Given the description of an element on the screen output the (x, y) to click on. 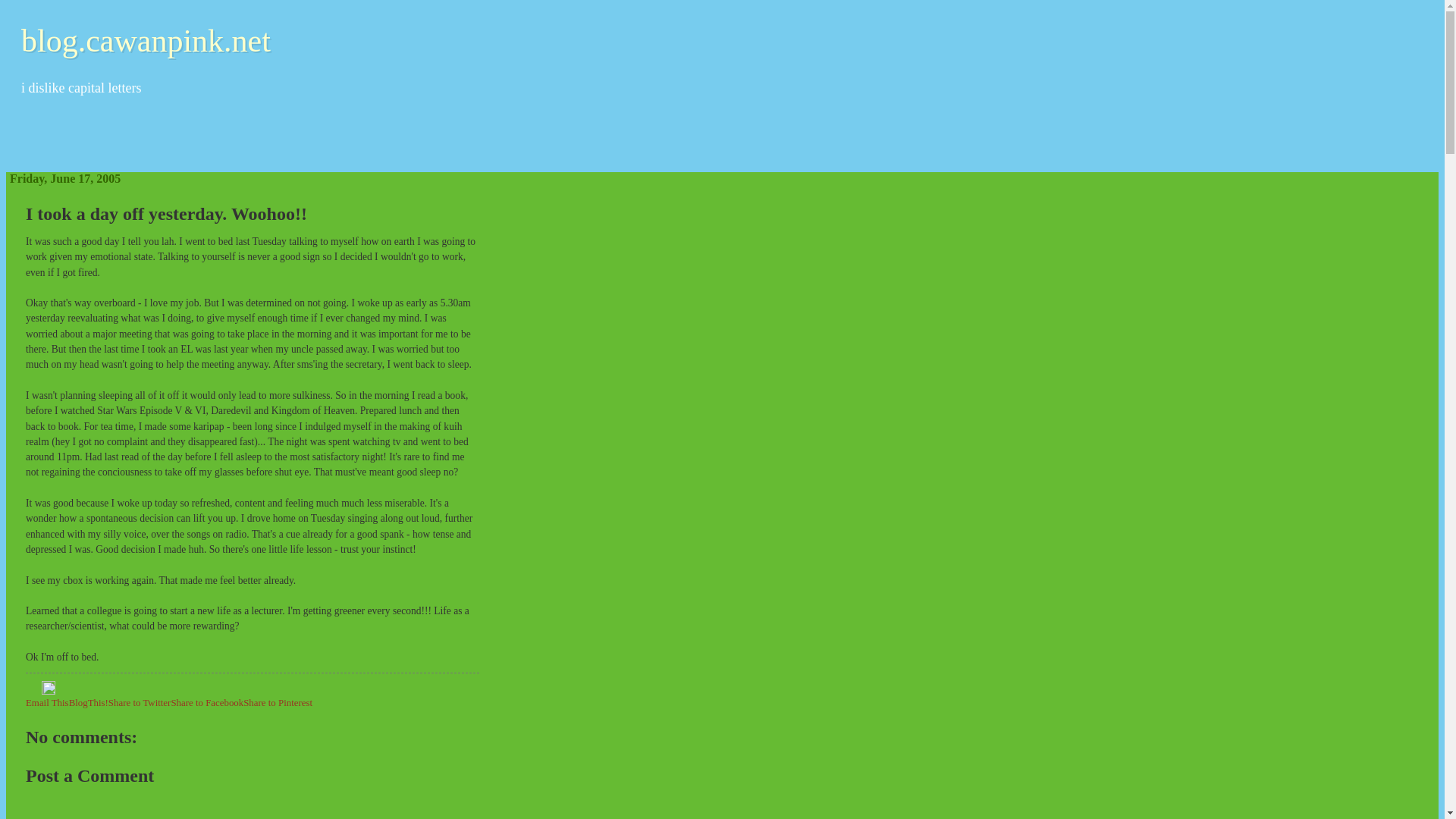
blog.cawanpink.net (145, 40)
Edit Post (48, 691)
Share to Facebook (206, 702)
Share to Twitter (139, 702)
Share to Facebook (206, 702)
Email This (47, 702)
Share to Twitter (139, 702)
Email Post (34, 691)
BlogThis! (87, 702)
BlogThis! (87, 702)
Share to Pinterest (278, 702)
Share to Pinterest (278, 702)
Email This (47, 702)
